Given the description of an element on the screen output the (x, y) to click on. 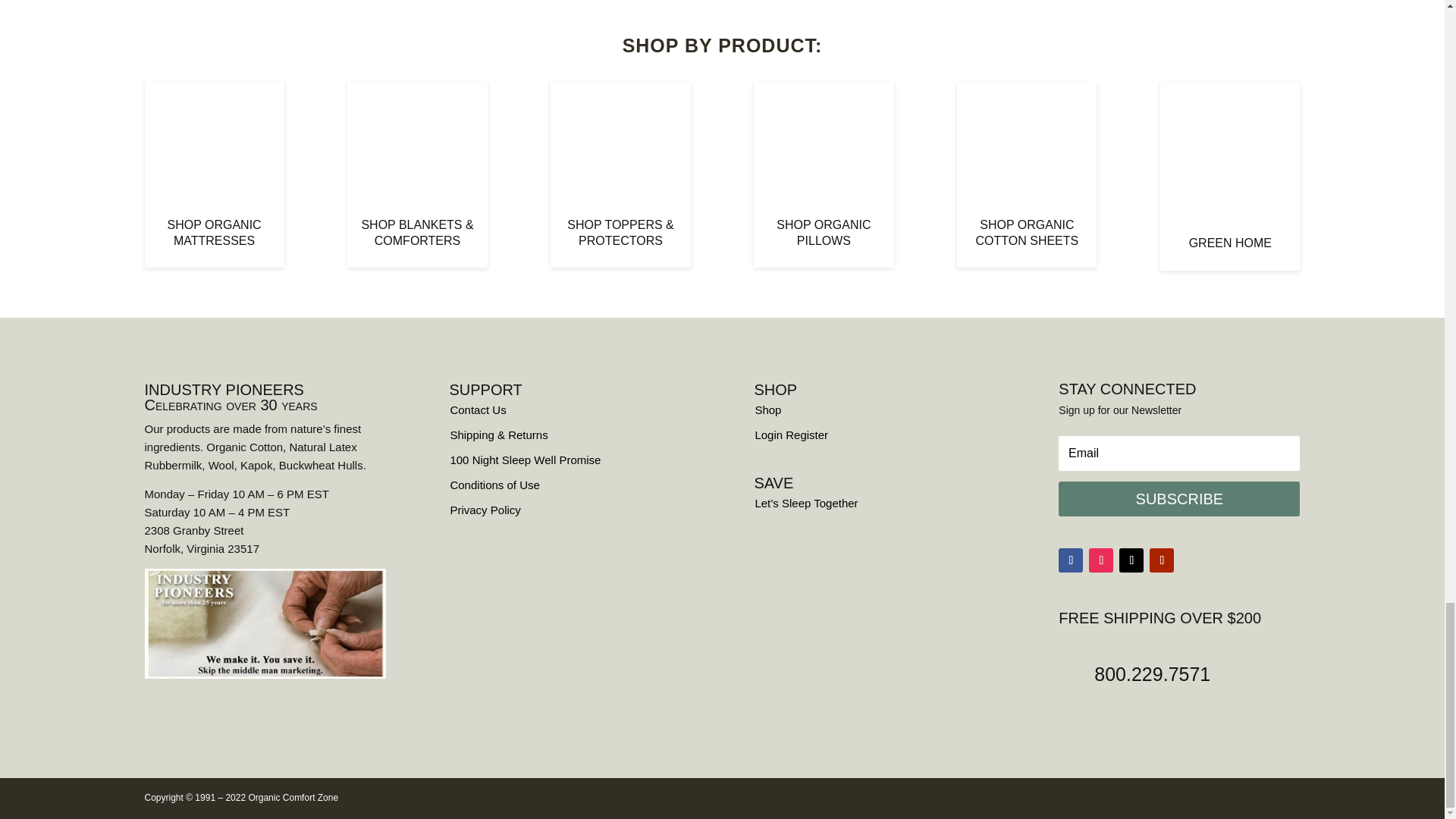
Follow on Instagram (1101, 559)
Follow on Twitter (1130, 559)
Follow on Facebook (1070, 559)
Follow on Youtube (1161, 559)
